Given the description of an element on the screen output the (x, y) to click on. 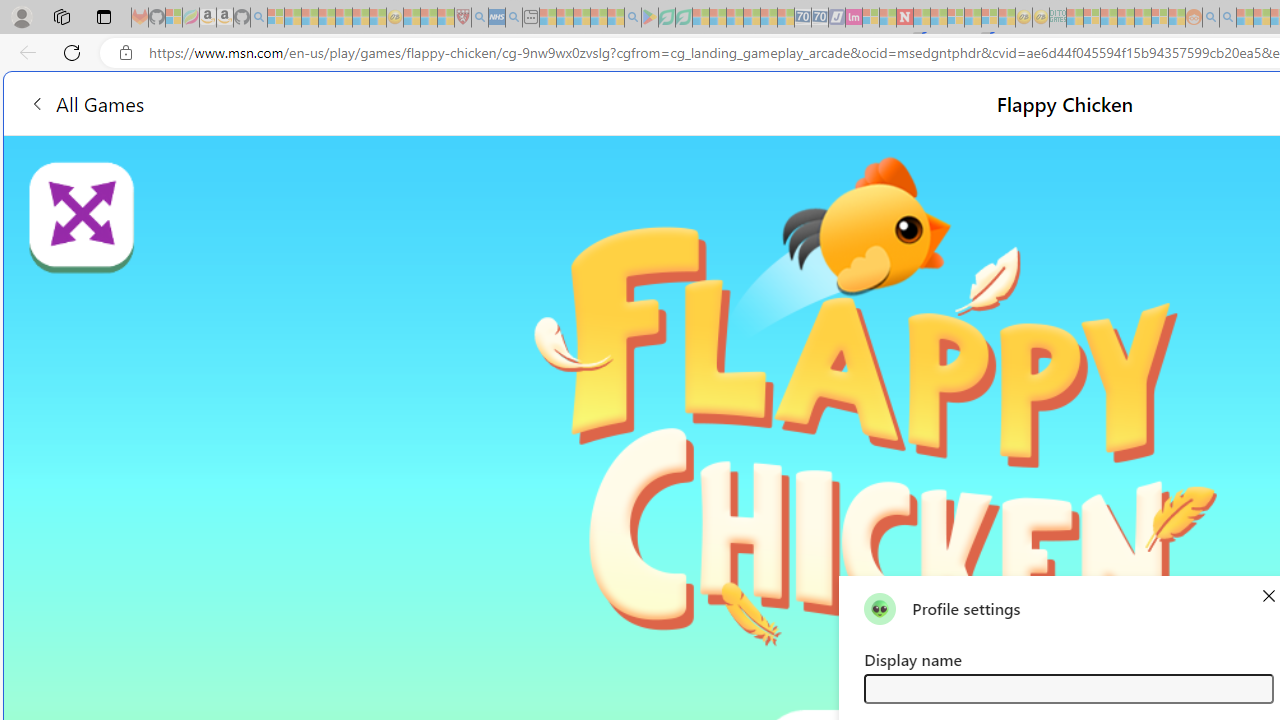
Jobs - lastminute.com Investor Portal - Sleeping (853, 17)
All Games (373, 102)
